Given the description of an element on the screen output the (x, y) to click on. 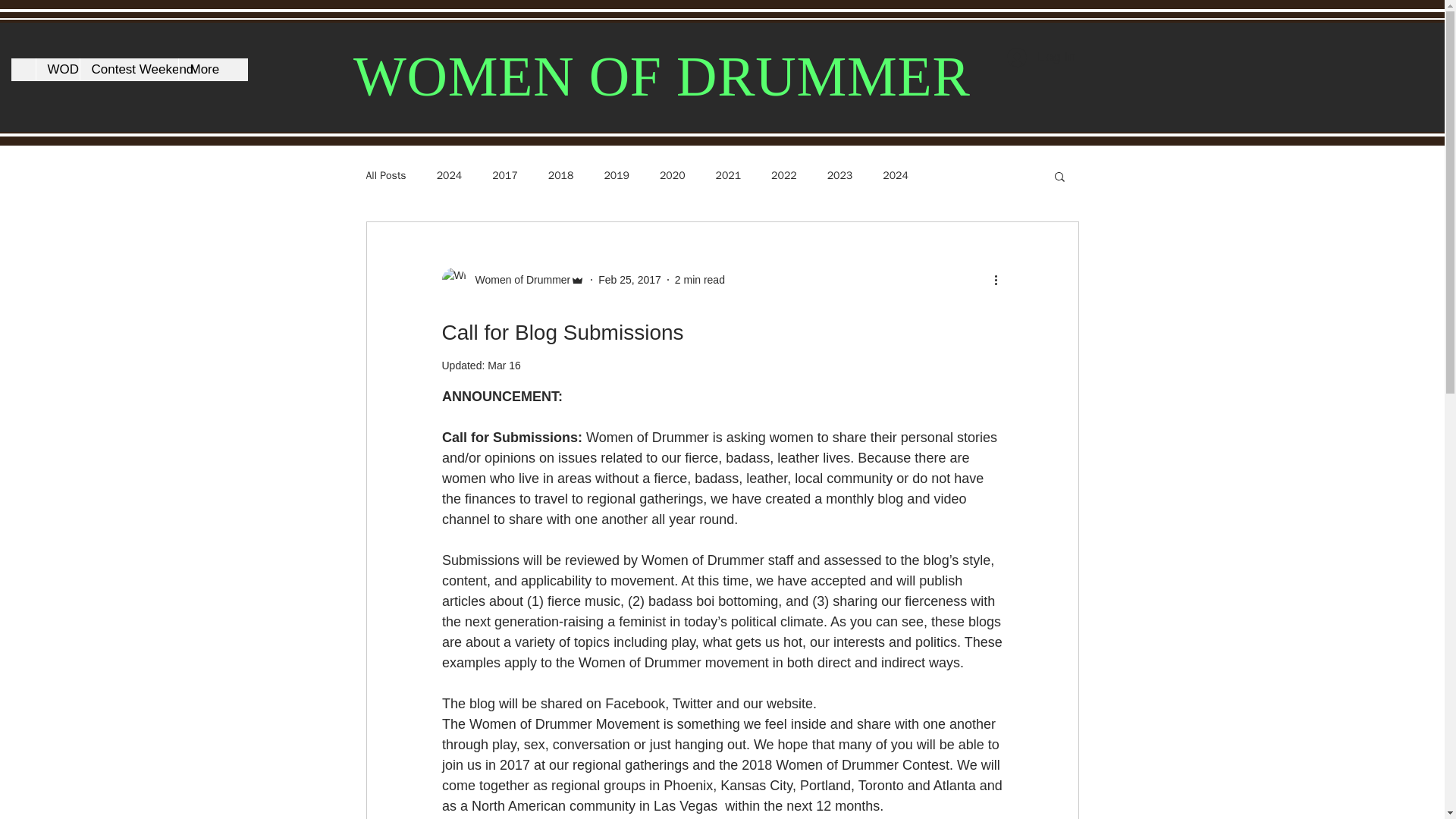
Women of Drummer (517, 279)
2017 (505, 175)
2019 (616, 175)
2020 (672, 175)
2018 (560, 175)
2023 (840, 175)
Women of Drummer (513, 279)
Feb 25, 2017 (629, 278)
WOD (56, 69)
Log In (1040, 57)
Contest Weekend (127, 69)
2 min read (700, 278)
Mar 16 (504, 365)
All Posts (385, 175)
2024 (895, 175)
